Given the description of an element on the screen output the (x, y) to click on. 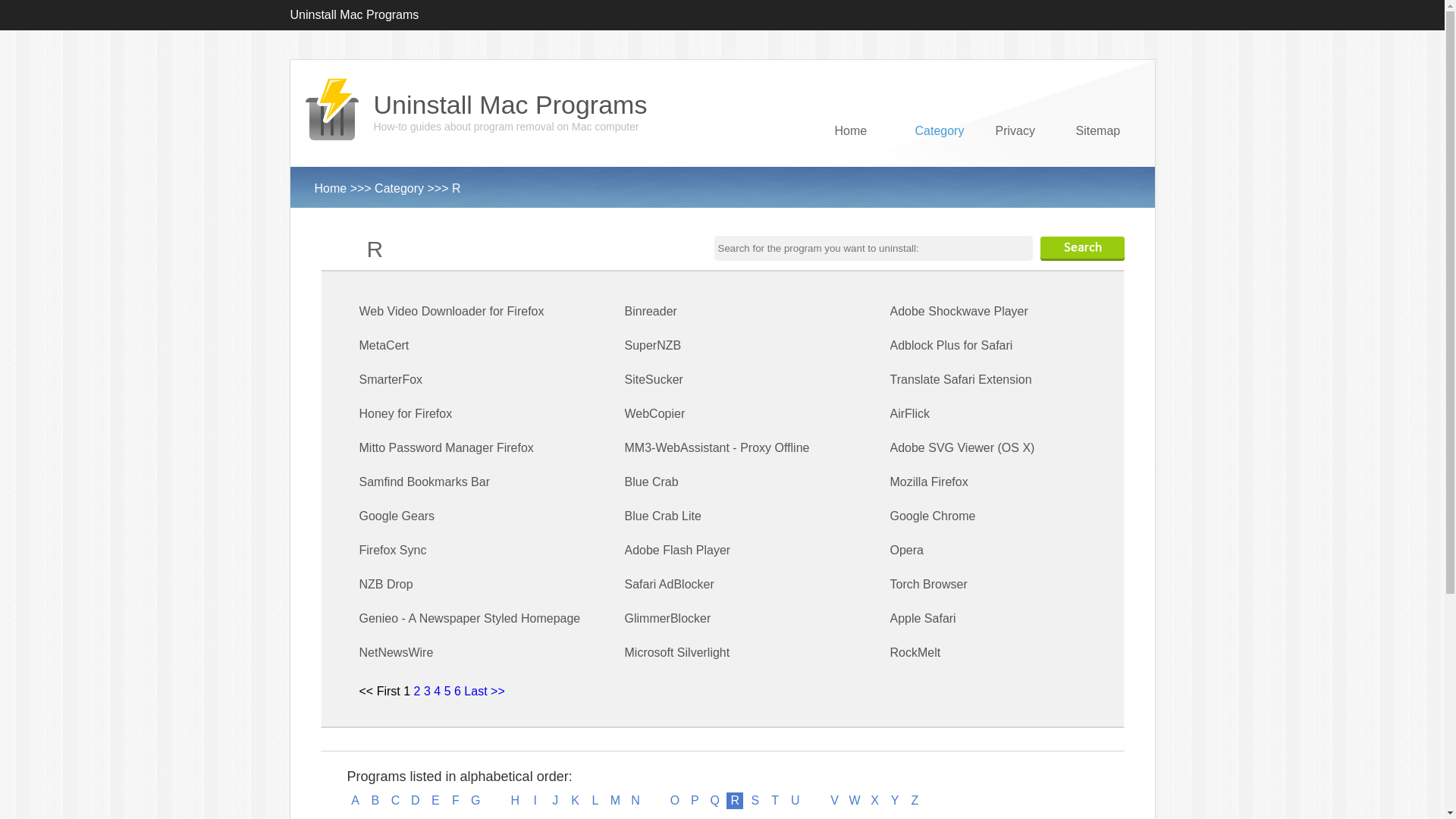
4 Element type: text (436, 690)
Google Gears Element type: text (397, 515)
O Element type: text (674, 800)
5 Element type: text (447, 690)
X Element type: text (874, 800)
Adobe SVG Viewer (OS X) Element type: text (962, 447)
Adobe Shockwave Player Element type: text (959, 310)
Last >> Element type: text (484, 690)
U Element type: text (795, 800)
Samfind Bookmarks Bar Element type: text (424, 481)
G Element type: text (475, 800)
H Element type: text (514, 800)
W Element type: text (854, 800)
Apple Safari Element type: text (923, 617)
F Element type: text (455, 800)
NetNewsWire Element type: text (396, 652)
K Element type: text (575, 800)
AirFlick Element type: text (909, 413)
Microsoft Silverlight Element type: text (677, 652)
Adblock Plus for Safari Element type: text (951, 344)
T Element type: text (774, 800)
P Element type: text (694, 800)
Category Element type: text (940, 157)
MM3-WebAssistant - Proxy Offline Browser Element type: text (716, 464)
SmarterFox Element type: text (391, 379)
3 Element type: text (426, 690)
I Element type: text (535, 800)
Privacy Element type: text (1021, 157)
Adobe Flash Player Element type: text (677, 549)
Home Element type: text (860, 157)
J Element type: text (554, 800)
GlimmerBlocker Element type: text (667, 617)
Mozilla Firefox Element type: text (929, 481)
Q Element type: text (714, 800)
1 Element type: text (406, 690)
NZB Drop Element type: text (386, 583)
Honey for Firefox Element type: text (405, 413)
Translate Safari Extension Element type: text (961, 379)
Genieo - A Newspaper Styled Homepage Element type: text (469, 617)
Sitemap Element type: text (1101, 157)
Home Element type: text (329, 188)
Blue Crab Lite Element type: text (662, 515)
Opera Element type: text (906, 549)
<< First Element type: text (379, 690)
R Element type: text (734, 800)
SiteSucker Element type: text (653, 379)
2 Element type: text (417, 690)
B Element type: text (375, 800)
Mitto Password Manager Firefox Extension Element type: text (446, 464)
L Element type: text (594, 800)
SuperNZB Element type: text (652, 344)
D Element type: text (415, 800)
Y Element type: text (894, 800)
MetaCert Element type: text (384, 344)
Firefox Sync Element type: text (392, 549)
S Element type: text (754, 800)
Binreader Element type: text (650, 310)
Blue Crab Element type: text (651, 481)
C Element type: text (394, 800)
A Element type: text (355, 800)
Web Video Downloader for Firefox Element type: text (451, 310)
M Element type: text (614, 800)
N Element type: text (635, 800)
E Element type: text (434, 800)
RockMelt Element type: text (915, 652)
Torch Browser Element type: text (928, 583)
6 Element type: text (457, 690)
Category Element type: text (398, 188)
R Element type: text (456, 188)
Google Chrome Element type: text (932, 515)
V Element type: text (834, 800)
Z Element type: text (914, 800)
Safari AdBlocker Element type: text (669, 583)
WebCopier Element type: text (654, 413)
